Given the description of an element on the screen output the (x, y) to click on. 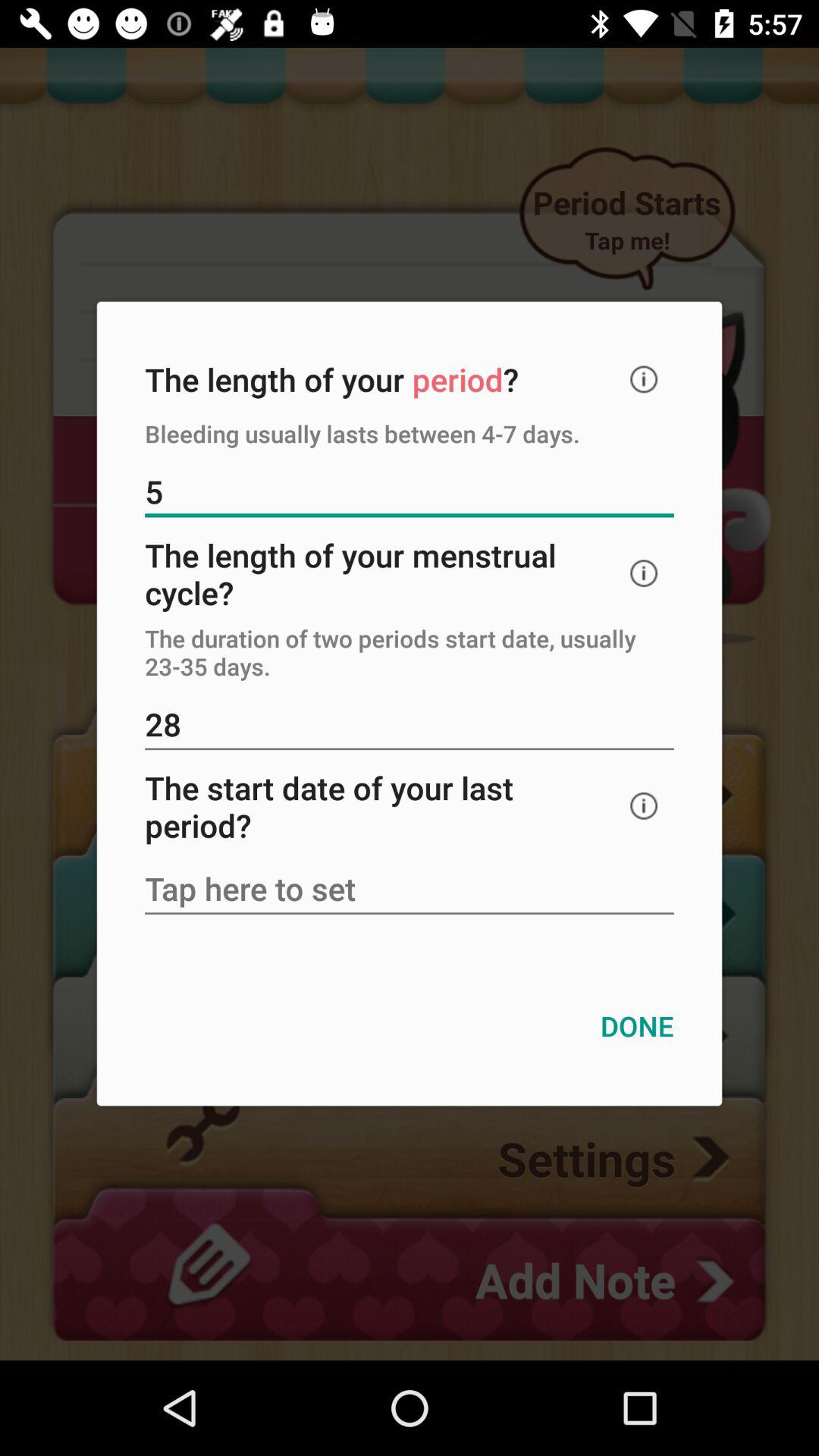
enter start date of your period (409, 890)
